Given the description of an element on the screen output the (x, y) to click on. 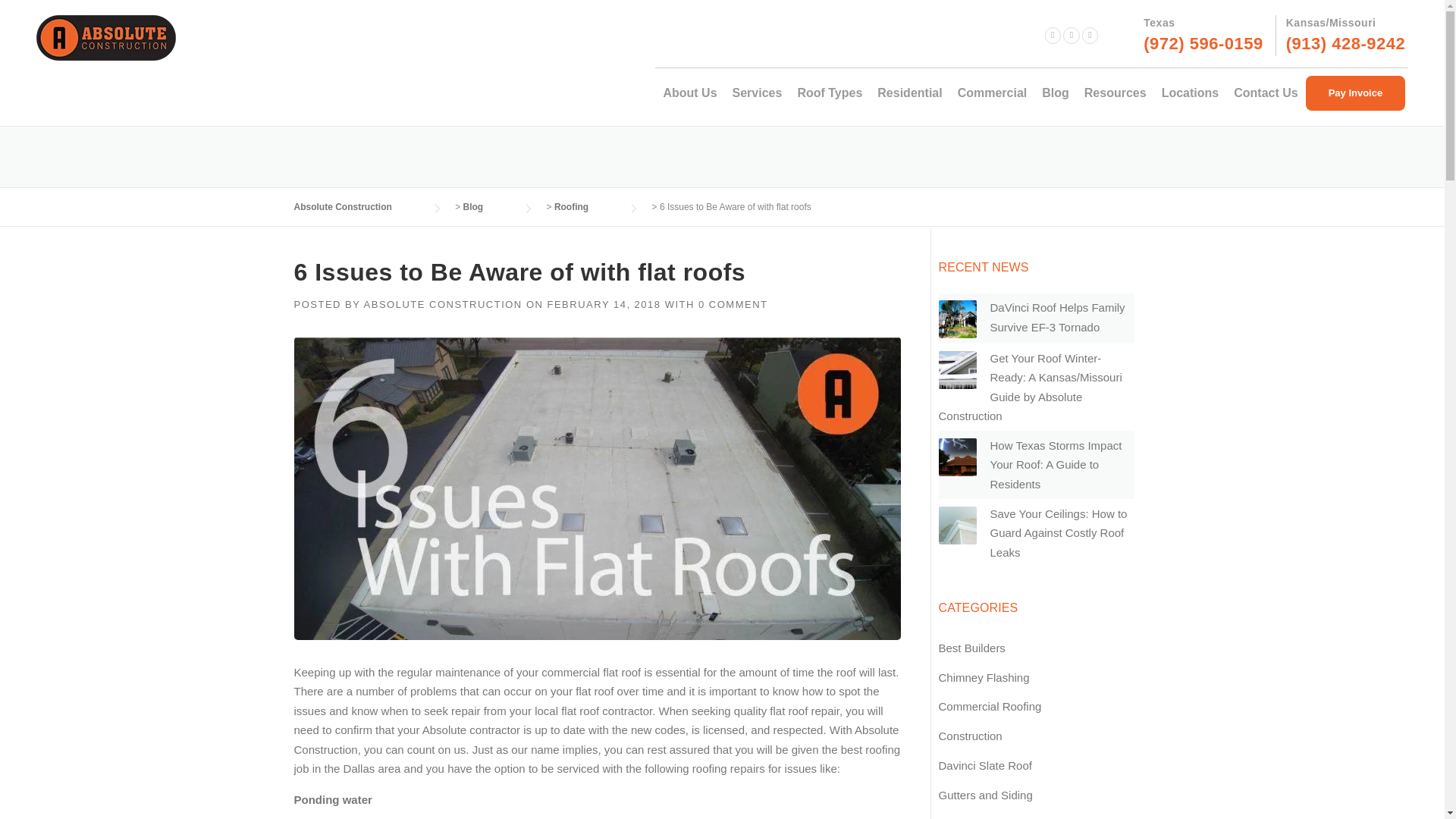
About Us (689, 92)
Pay Invoice (1356, 93)
Facebook (1053, 35)
FEBRUARY 14, 2018 (604, 304)
ABSOLUTE CONSTRUCTION (443, 304)
Absolute Construction (358, 206)
Residential (909, 92)
How Texas Storms Impact Your Roof: A Guide to Residents (1056, 464)
Blog (488, 206)
Resources (1115, 92)
Roofing (586, 206)
Youtube (1071, 35)
Roof Types (829, 92)
Linkedin (1090, 35)
0 COMMENT (733, 304)
